Given the description of an element on the screen output the (x, y) to click on. 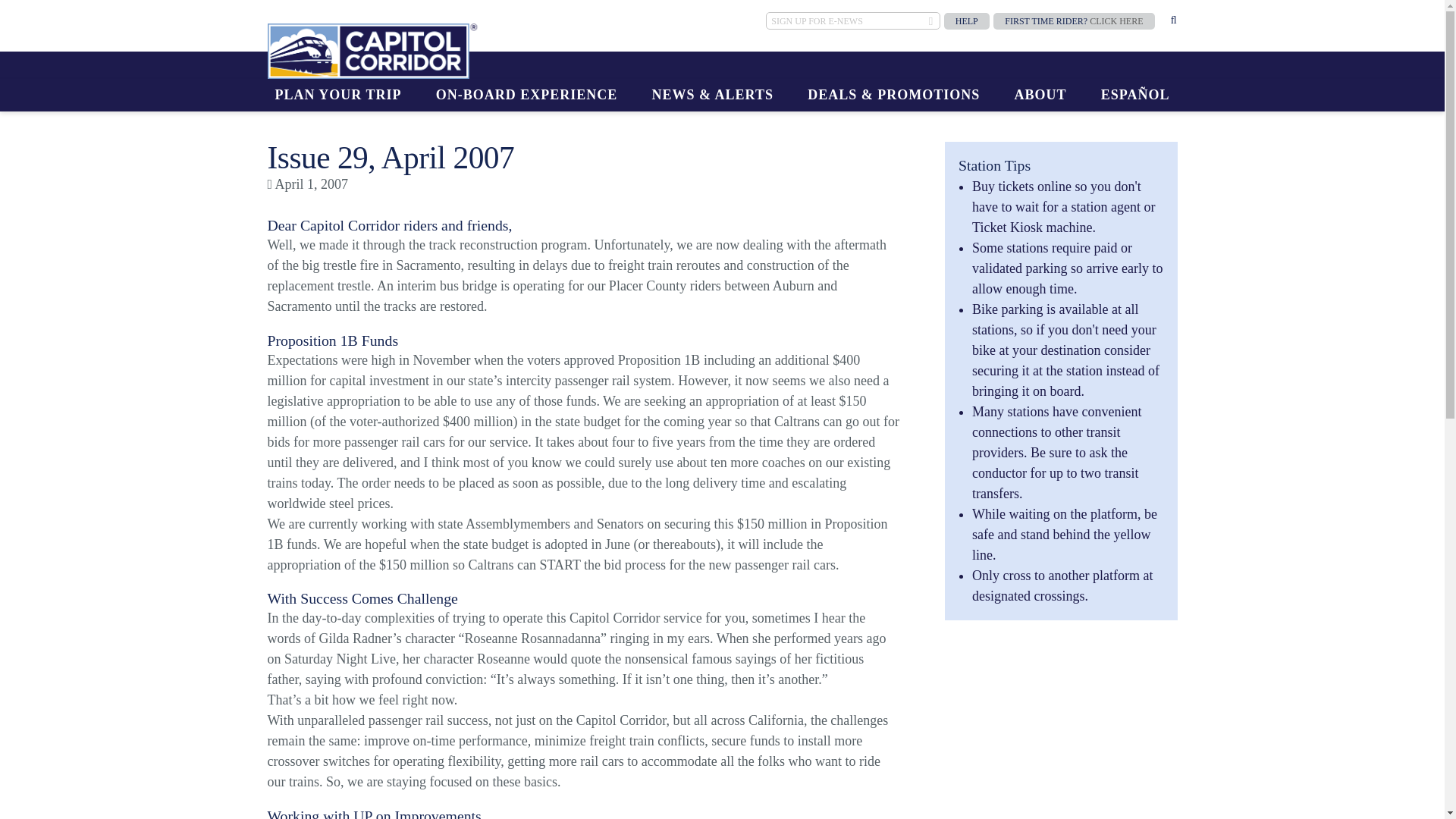
FIRST TIME RIDER? CLICK HERE (1073, 21)
ON-BOARD EXPERIENCE (527, 94)
HELP (966, 21)
PLAN YOUR TRIP (337, 94)
